Given the description of an element on the screen output the (x, y) to click on. 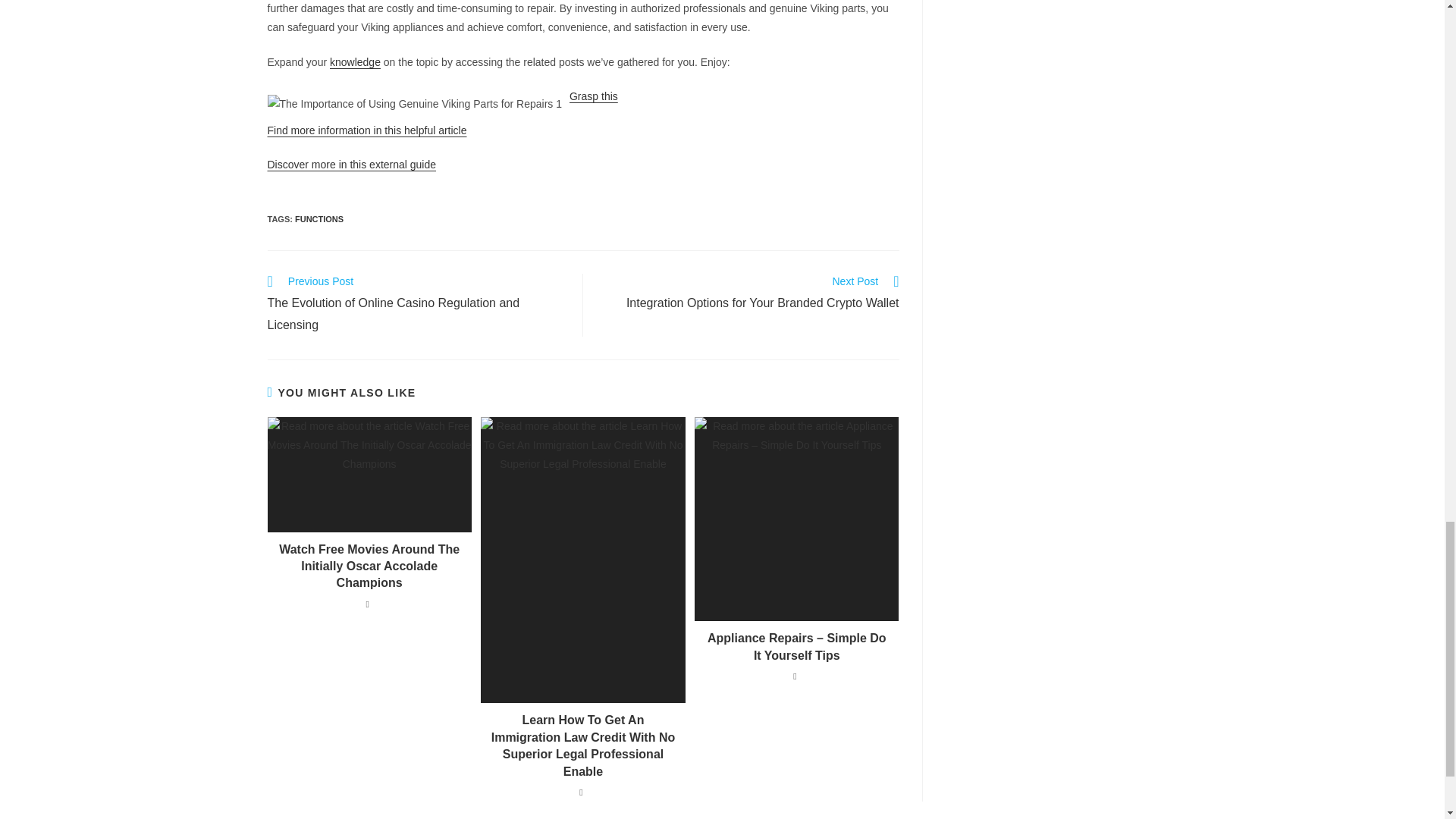
Grasp this (593, 96)
knowledge (355, 61)
FUNCTIONS (319, 218)
Discover more in this external guide (748, 293)
Find more information in this helpful article (350, 164)
